Given the description of an element on the screen output the (x, y) to click on. 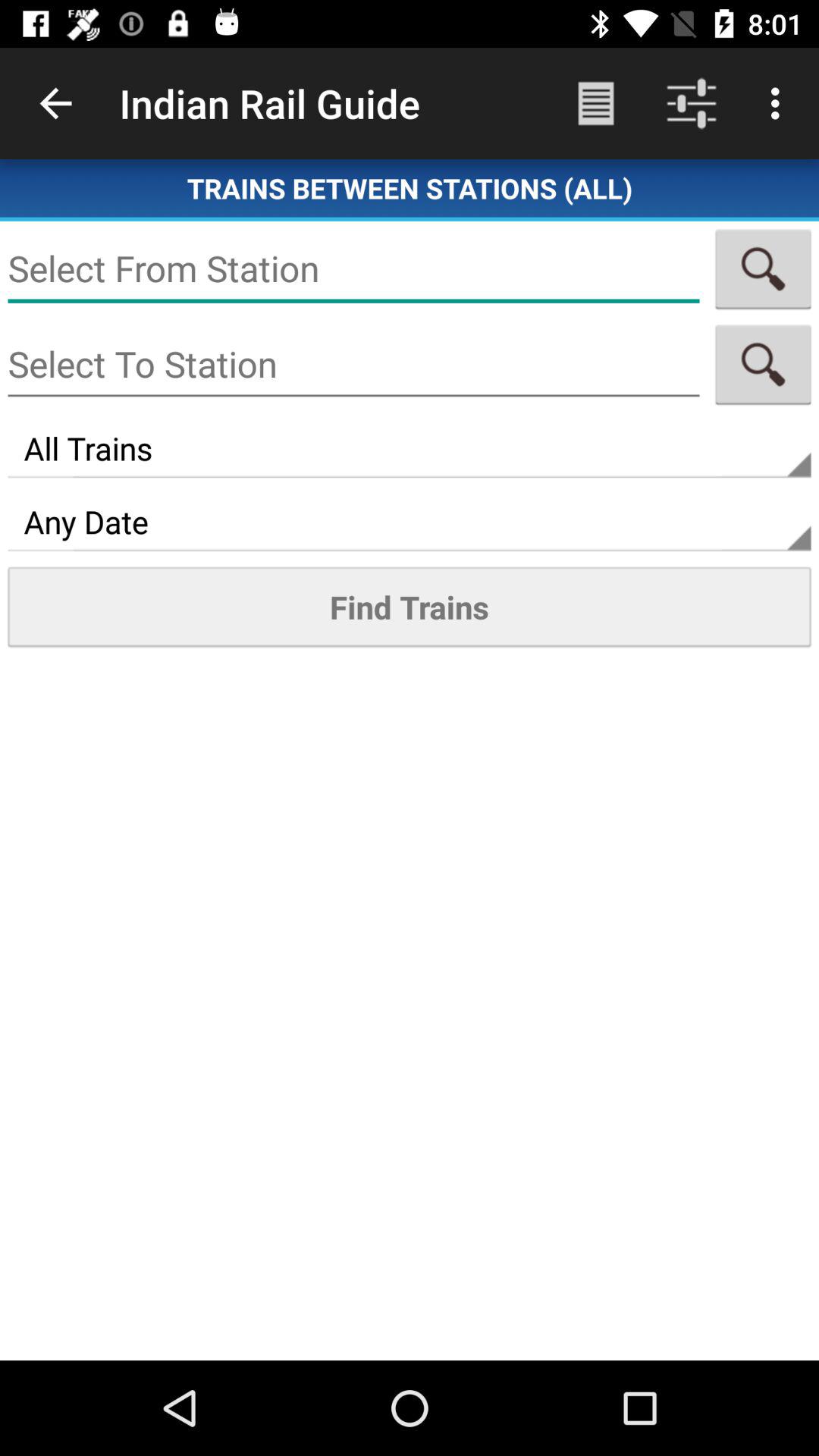
select any one (763, 364)
